Given the description of an element on the screen output the (x, y) to click on. 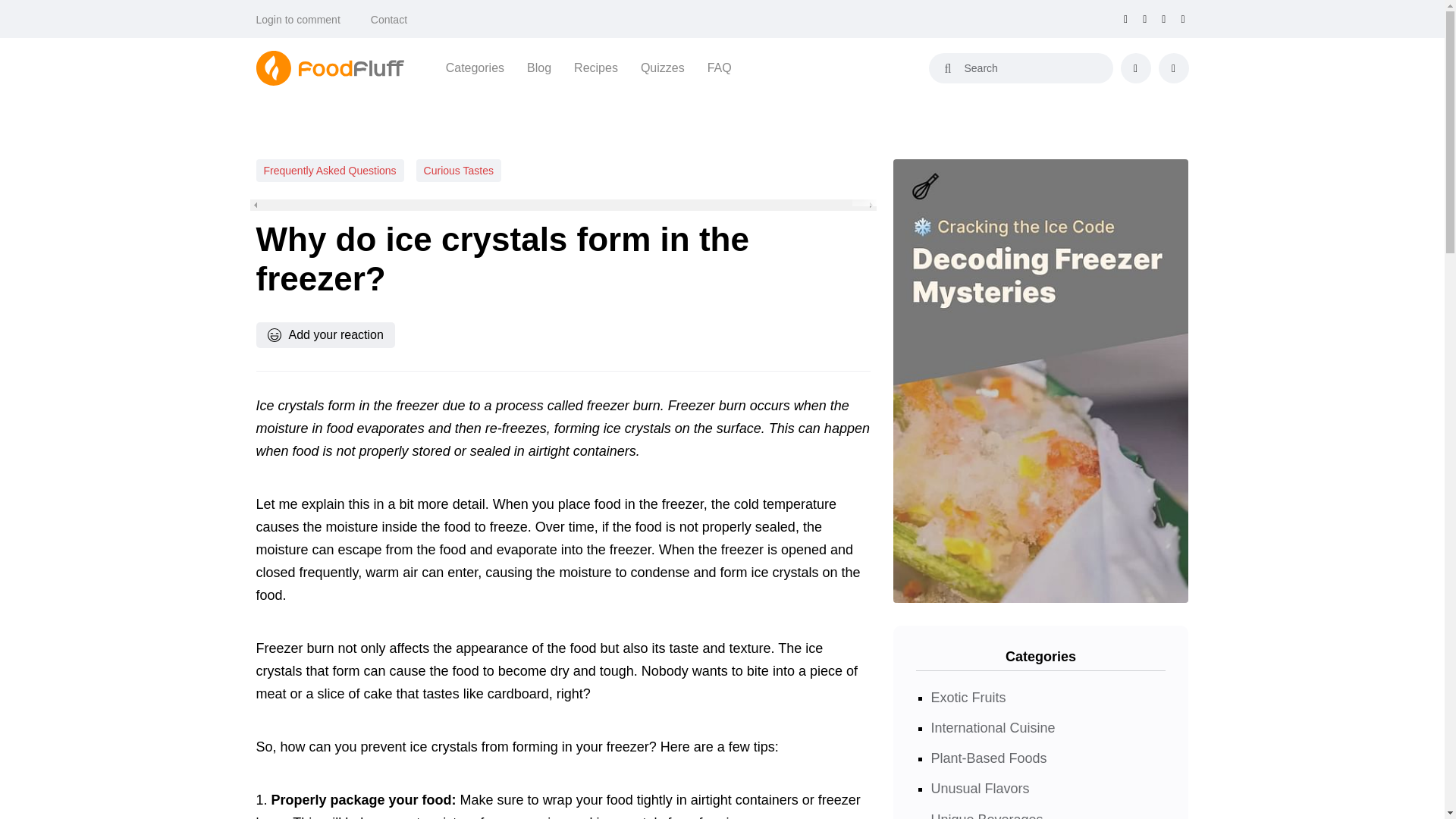
Categories (474, 67)
Contact (389, 19)
Login to comment (298, 19)
